Given the description of an element on the screen output the (x, y) to click on. 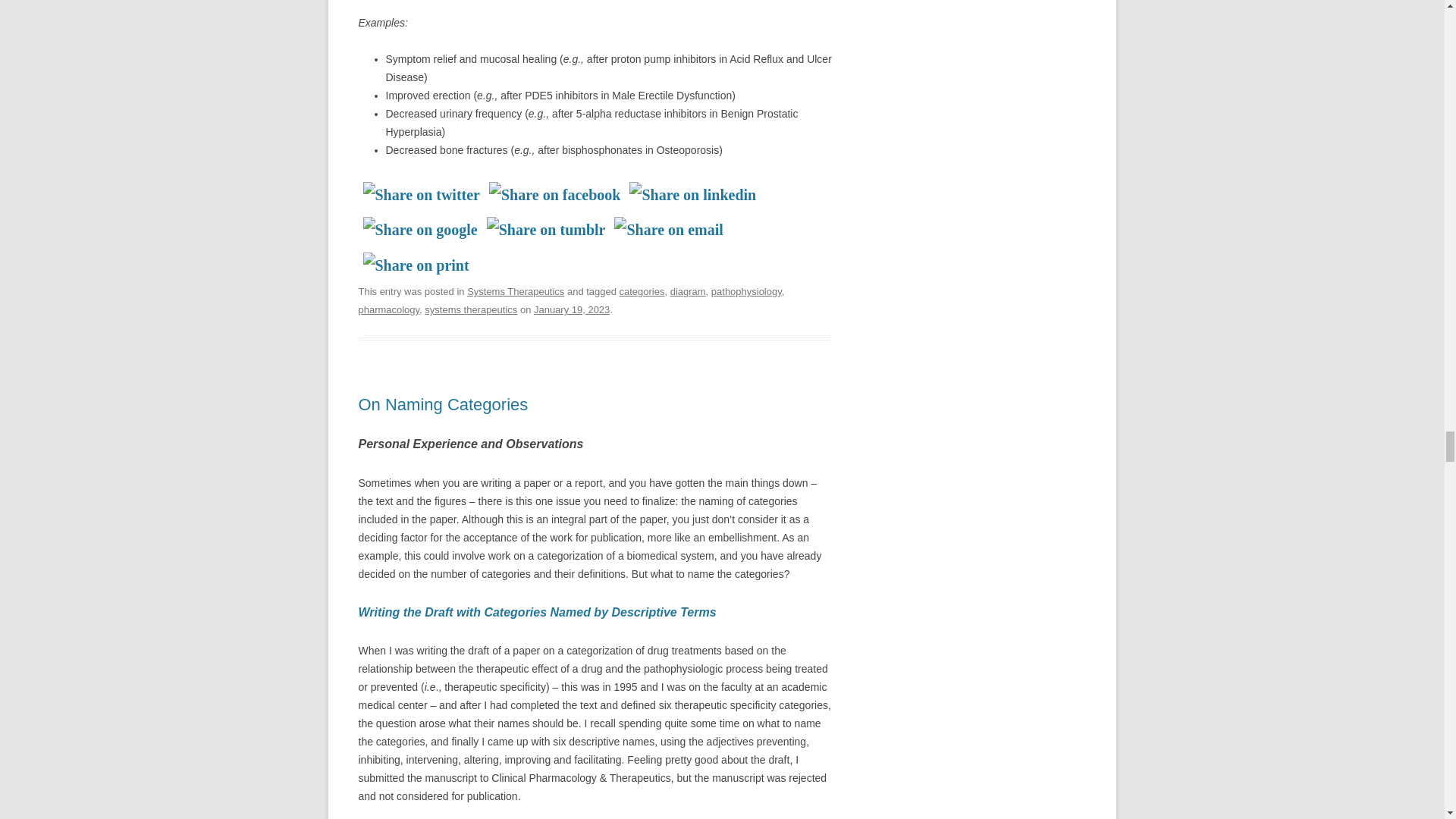
diagram (687, 291)
pathophysiology (746, 291)
twitter (421, 194)
facebook (554, 194)
3:20 pm (572, 309)
print (415, 265)
Systems Therapeutics (515, 291)
On Naming Categories (442, 404)
tumblr (545, 229)
google (419, 229)
